Given the description of an element on the screen output the (x, y) to click on. 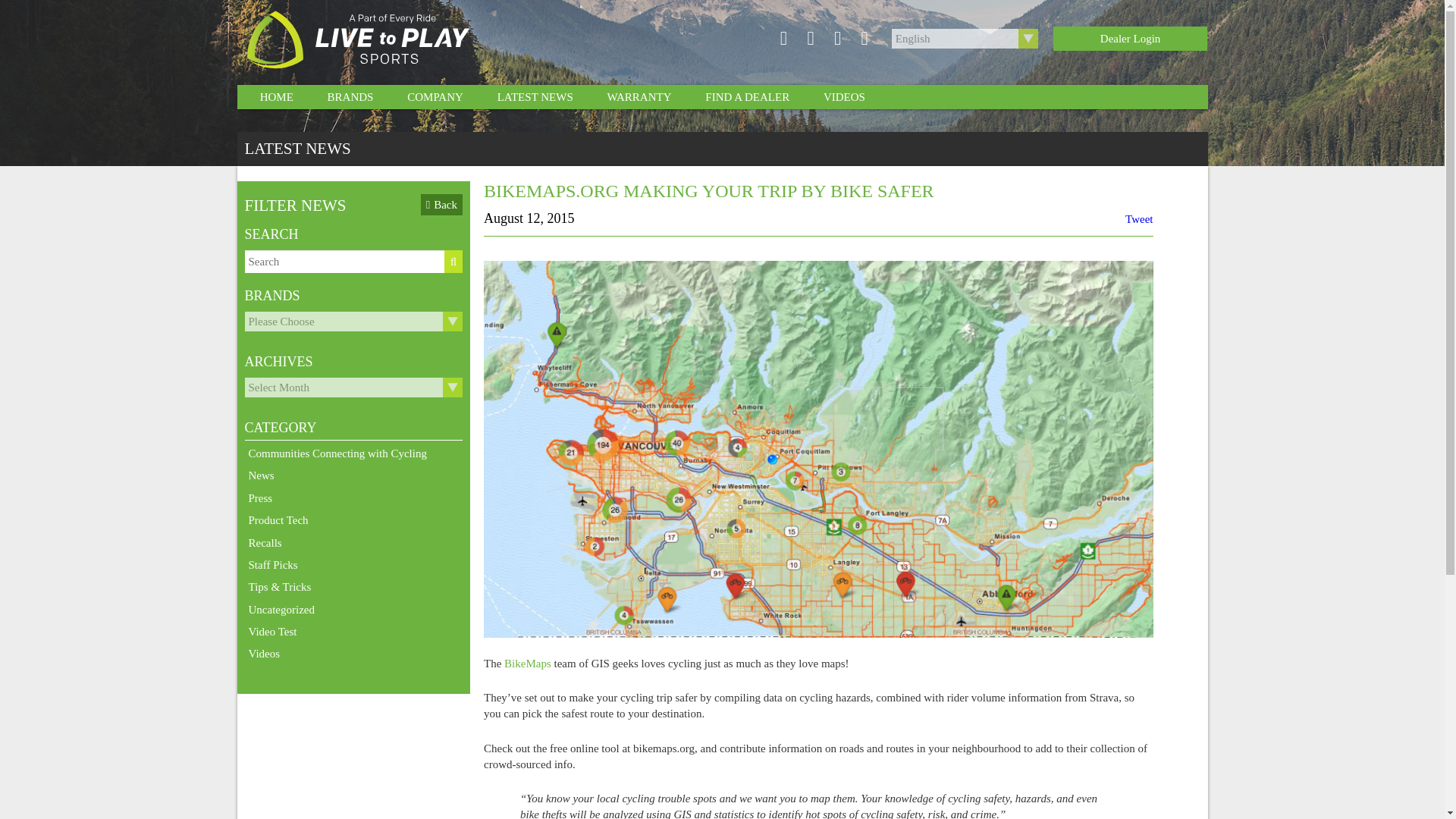
Product Tech (277, 519)
Videos (263, 653)
News (261, 475)
Back (441, 204)
Video Test (271, 631)
HOME (277, 96)
WARRANTY (639, 96)
Staff Picks (272, 564)
COMPANY (435, 96)
Tweet (1139, 218)
